Given the description of an element on the screen output the (x, y) to click on. 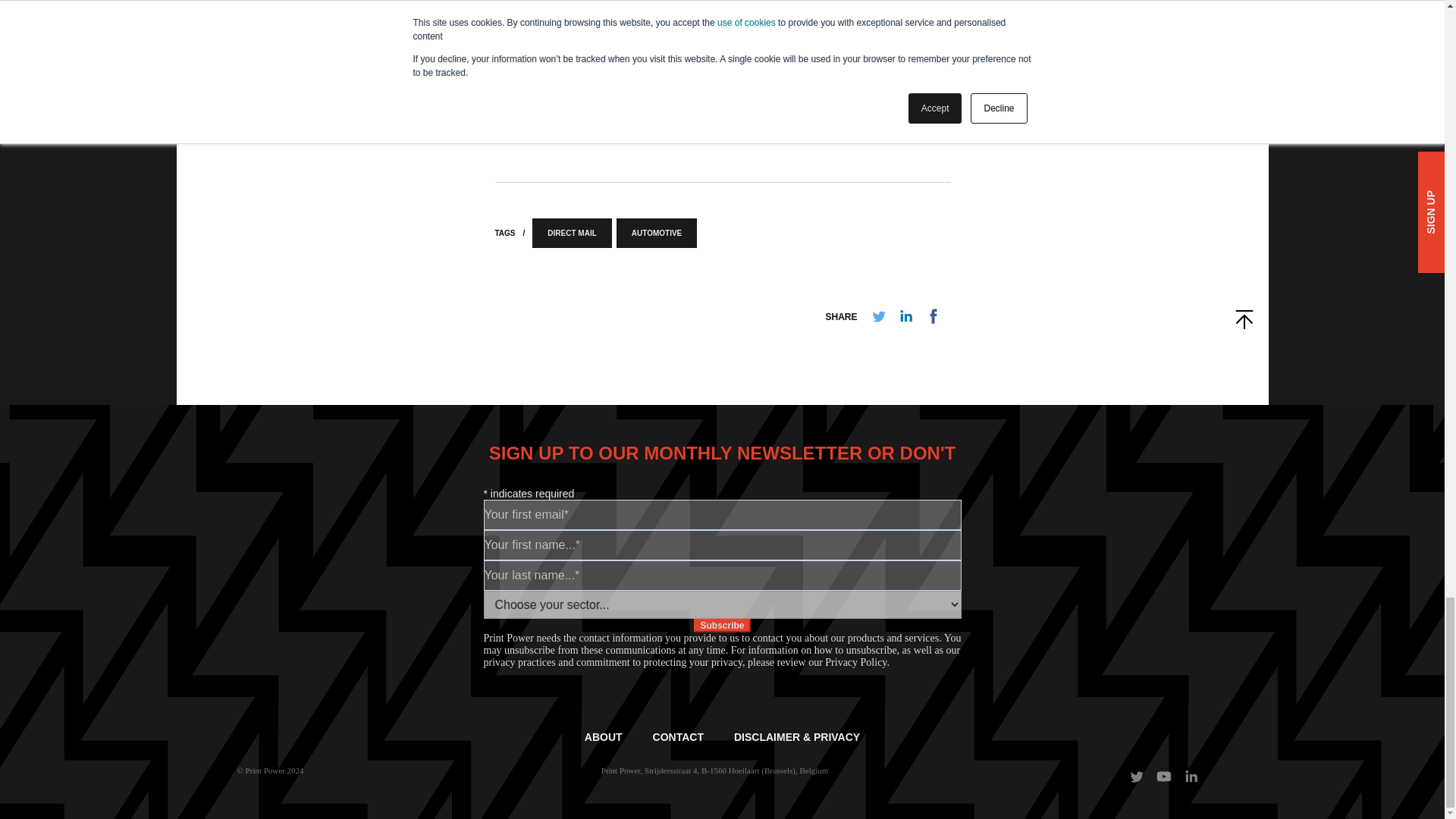
ABOUT (604, 736)
Subscribe (721, 625)
Subscribe (721, 625)
